Given the description of an element on the screen output the (x, y) to click on. 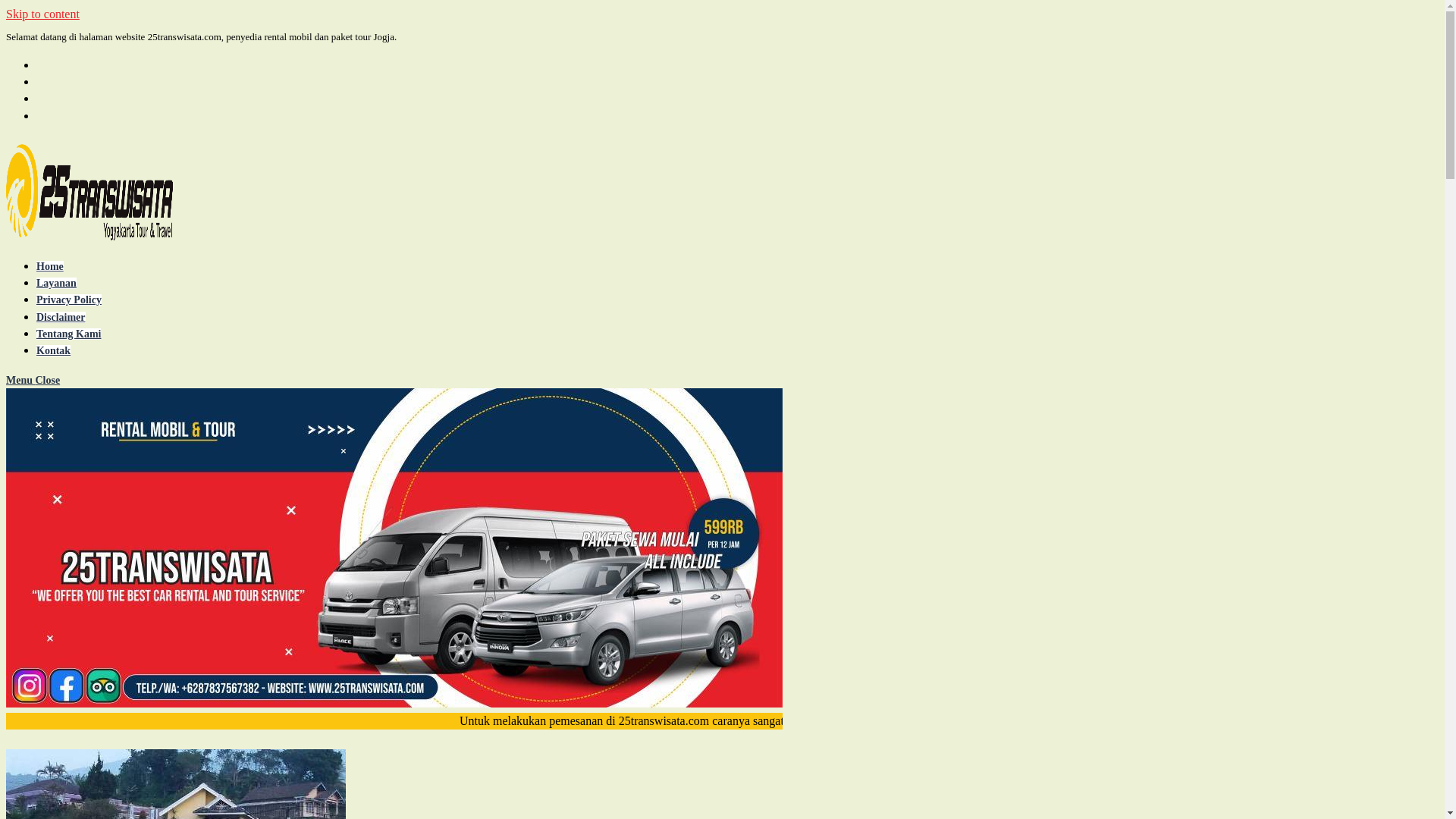
Tentang Kami Element type: text (68, 333)
Menu Close Element type: text (32, 379)
Home Element type: text (49, 266)
Skip to content Element type: text (42, 13)
Kontak Element type: text (53, 350)
Disclaimer Element type: text (60, 317)
Layanan Element type: text (56, 282)
Privacy Policy Element type: text (68, 299)
